Given the description of an element on the screen output the (x, y) to click on. 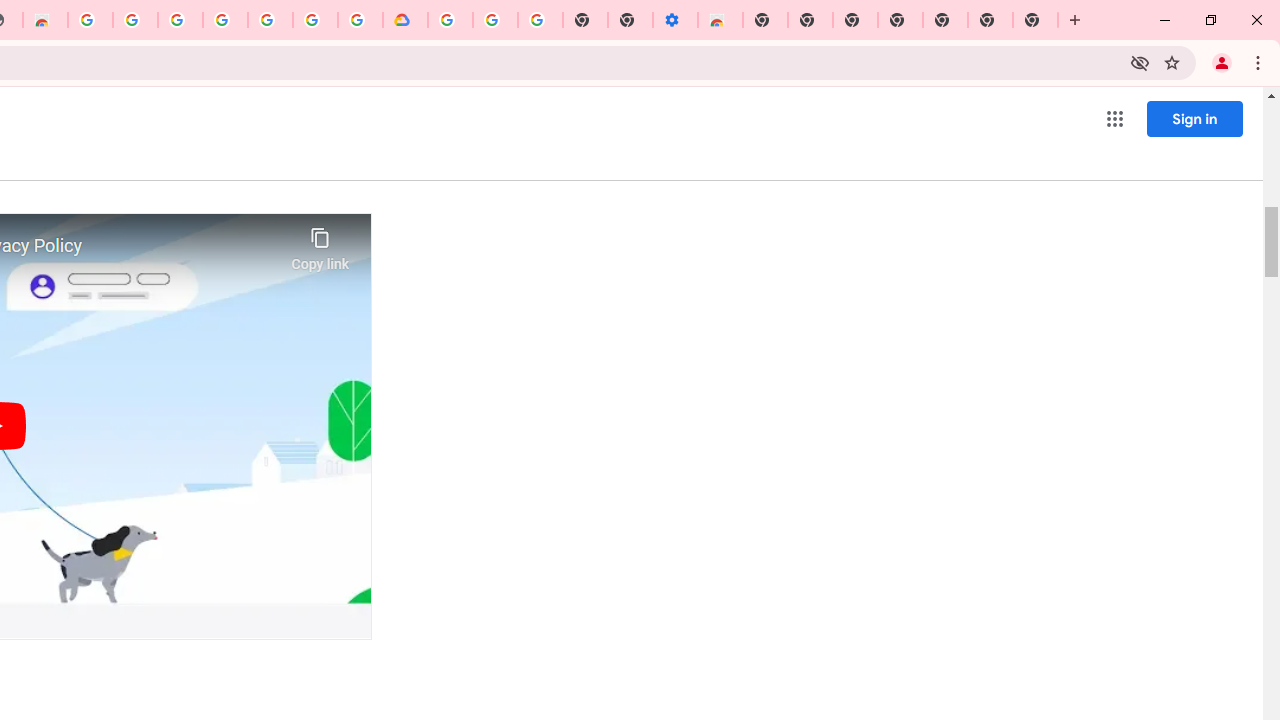
Copy link (319, 244)
Sign in - Google Accounts (180, 20)
New Tab (944, 20)
Turn cookies on or off - Computer - Google Account Help (540, 20)
Chrome Web Store - Accessibility extensions (720, 20)
New Tab (1035, 20)
Chrome Web Store - Household (45, 20)
